Given the description of an element on the screen output the (x, y) to click on. 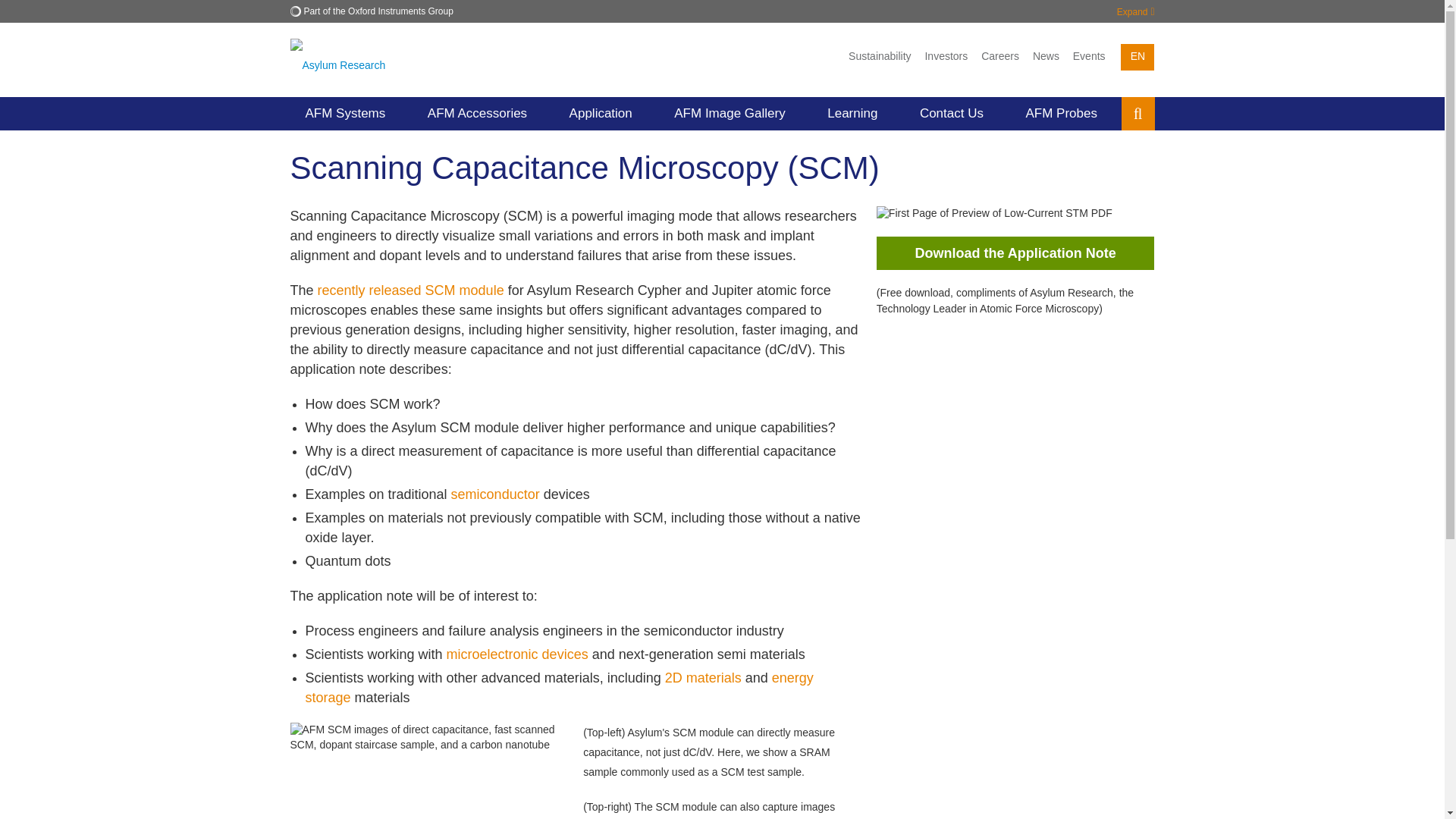
News (1045, 56)
Investors (945, 56)
Events (1088, 56)
Sustainability (880, 56)
Careers (1000, 56)
EN (1137, 57)
